Given the description of an element on the screen output the (x, y) to click on. 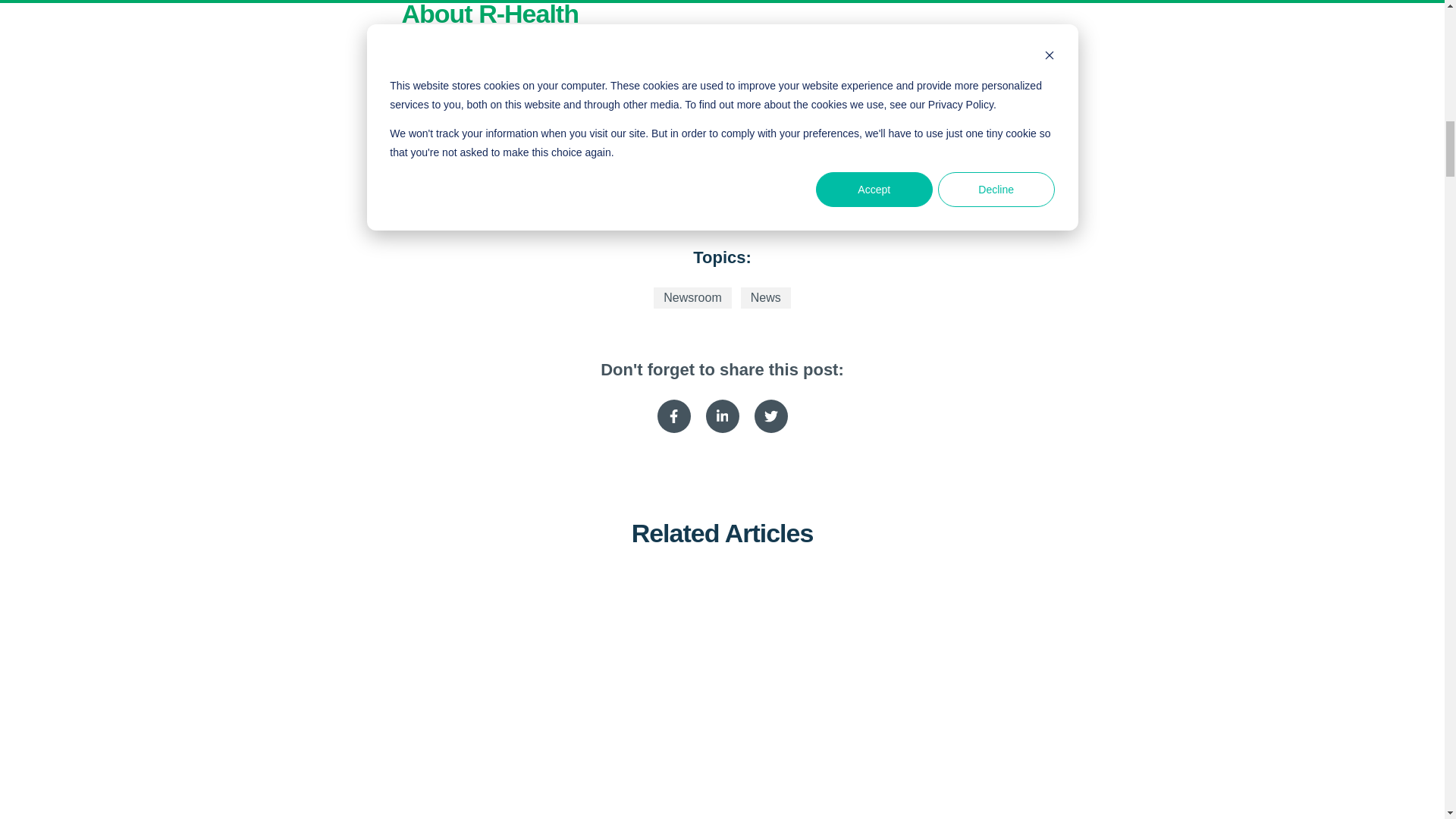
Share on Facebook (673, 416)
Share on Linkedin (721, 416)
Share on Twitter (770, 416)
